Given the description of an element on the screen output the (x, y) to click on. 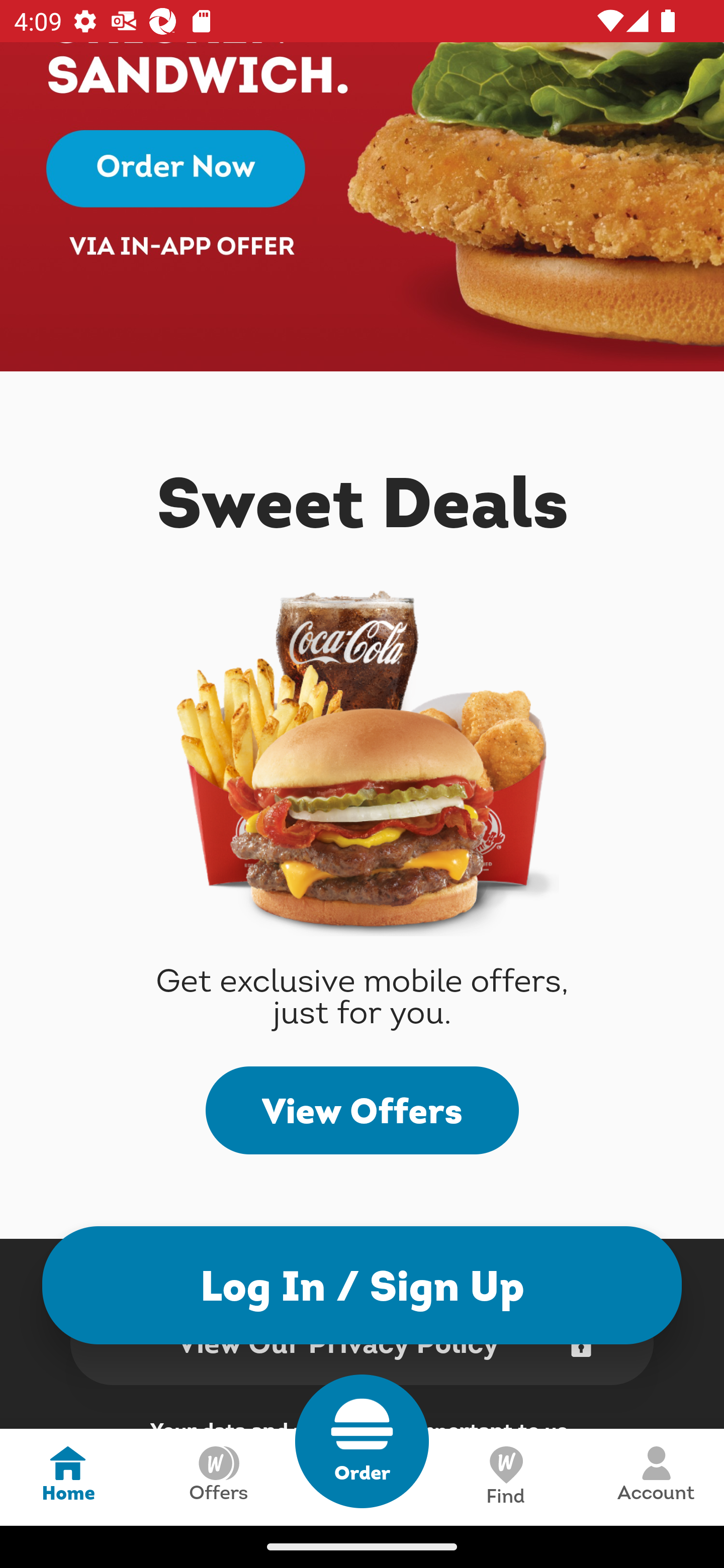
Campaign image (362, 206)
View Offers (362, 1110)
Log In / Sign Up (361, 1284)
Order,3 of 5 Order (361, 1441)
Home,1 of 5 Home (68, 1476)
Rewards,2 of 5 Offers Offers (218, 1476)
Scan,4 of 5 Find Find (505, 1476)
Account,5 of 5 Account (655, 1476)
